Given the description of an element on the screen output the (x, y) to click on. 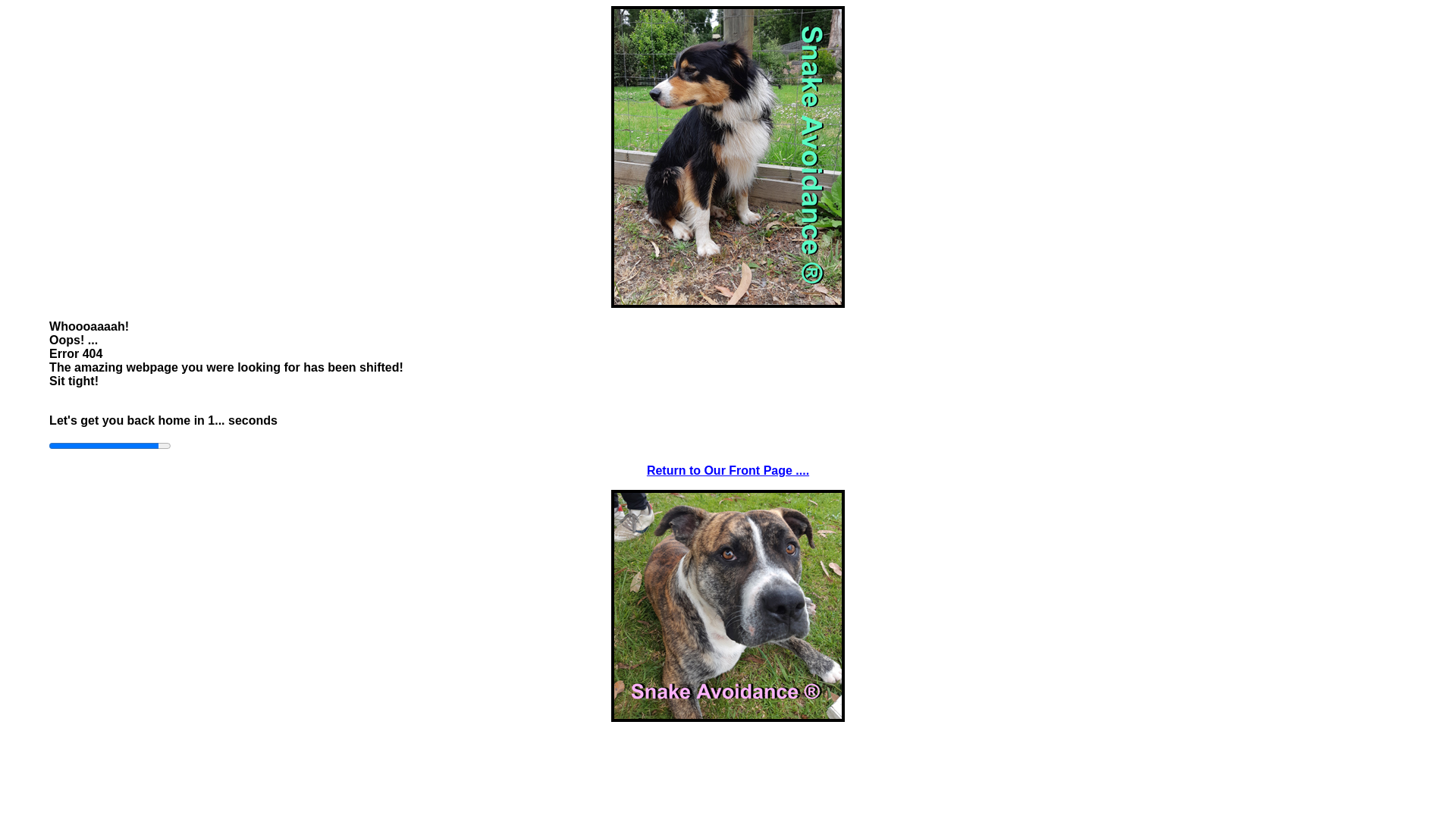
cute puppy Element type: hover (727, 156)
Small Lizard Element type: hover (727, 605)
Return to Our Front Page .... Element type: text (727, 470)
